Given the description of an element on the screen output the (x, y) to click on. 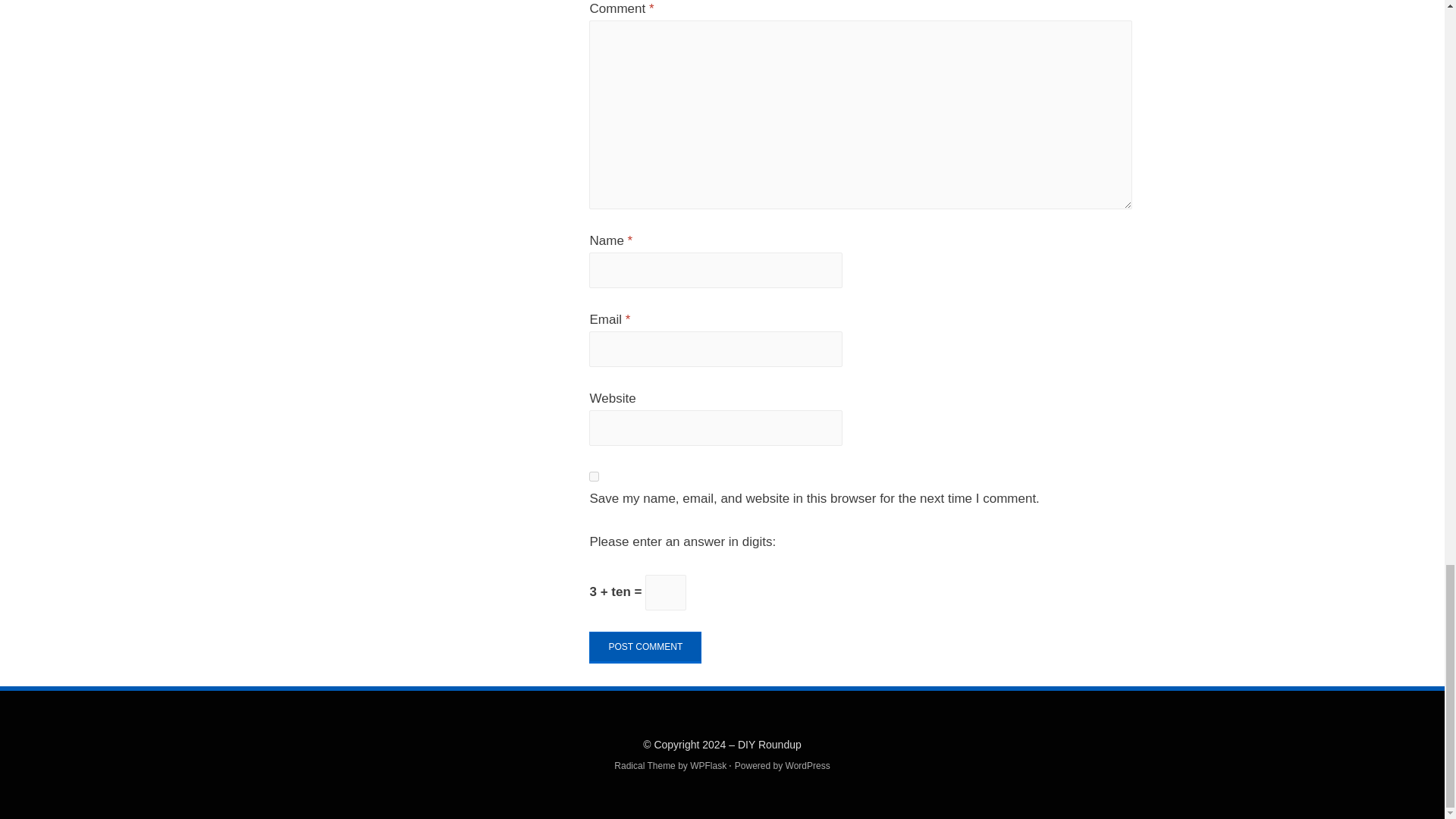
Post Comment (645, 647)
WPFlask (708, 765)
WordPress (807, 765)
yes (593, 476)
Post Comment (645, 647)
